Given the description of an element on the screen output the (x, y) to click on. 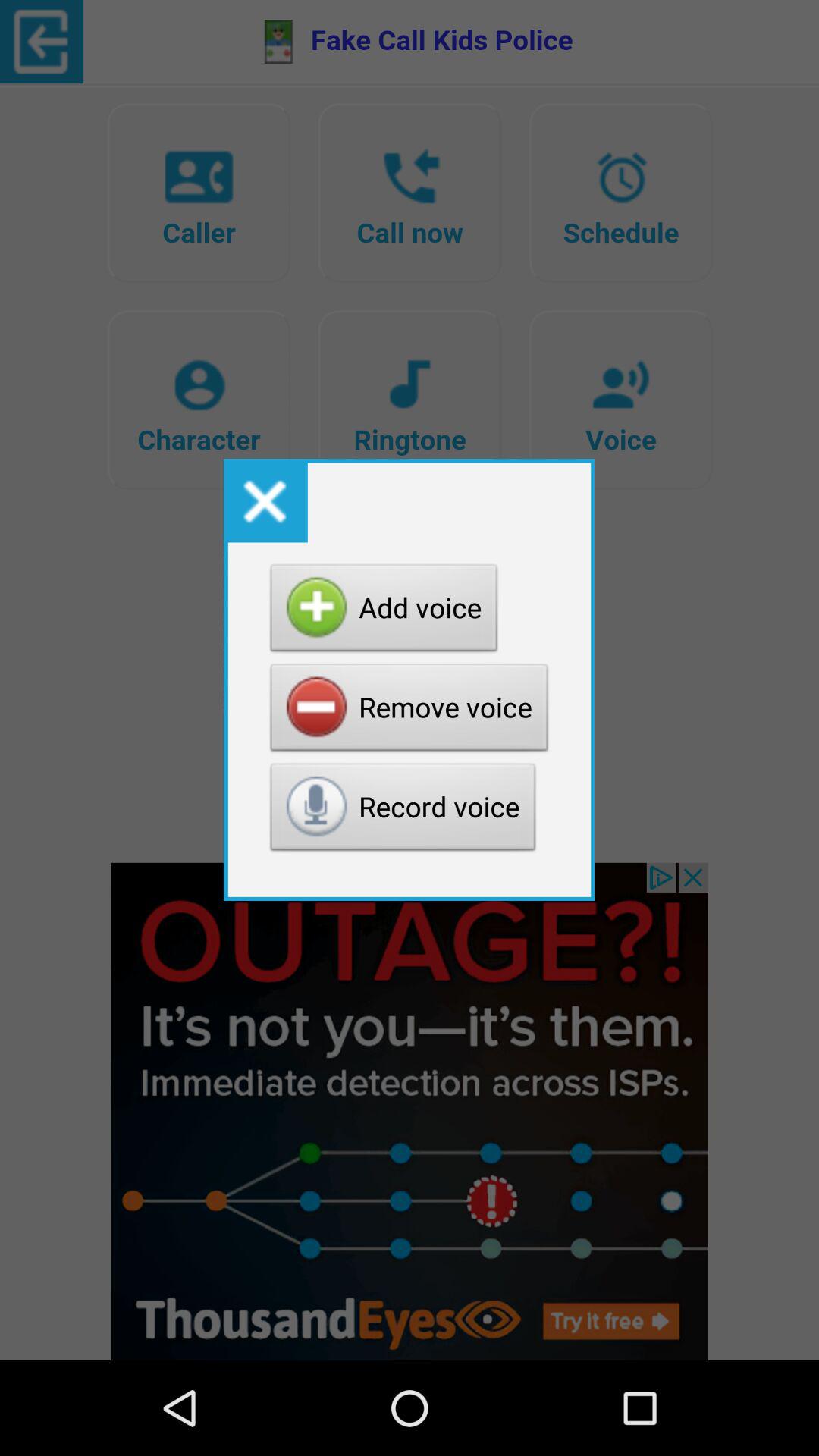
turn off the record voice icon (402, 811)
